Given the description of an element on the screen output the (x, y) to click on. 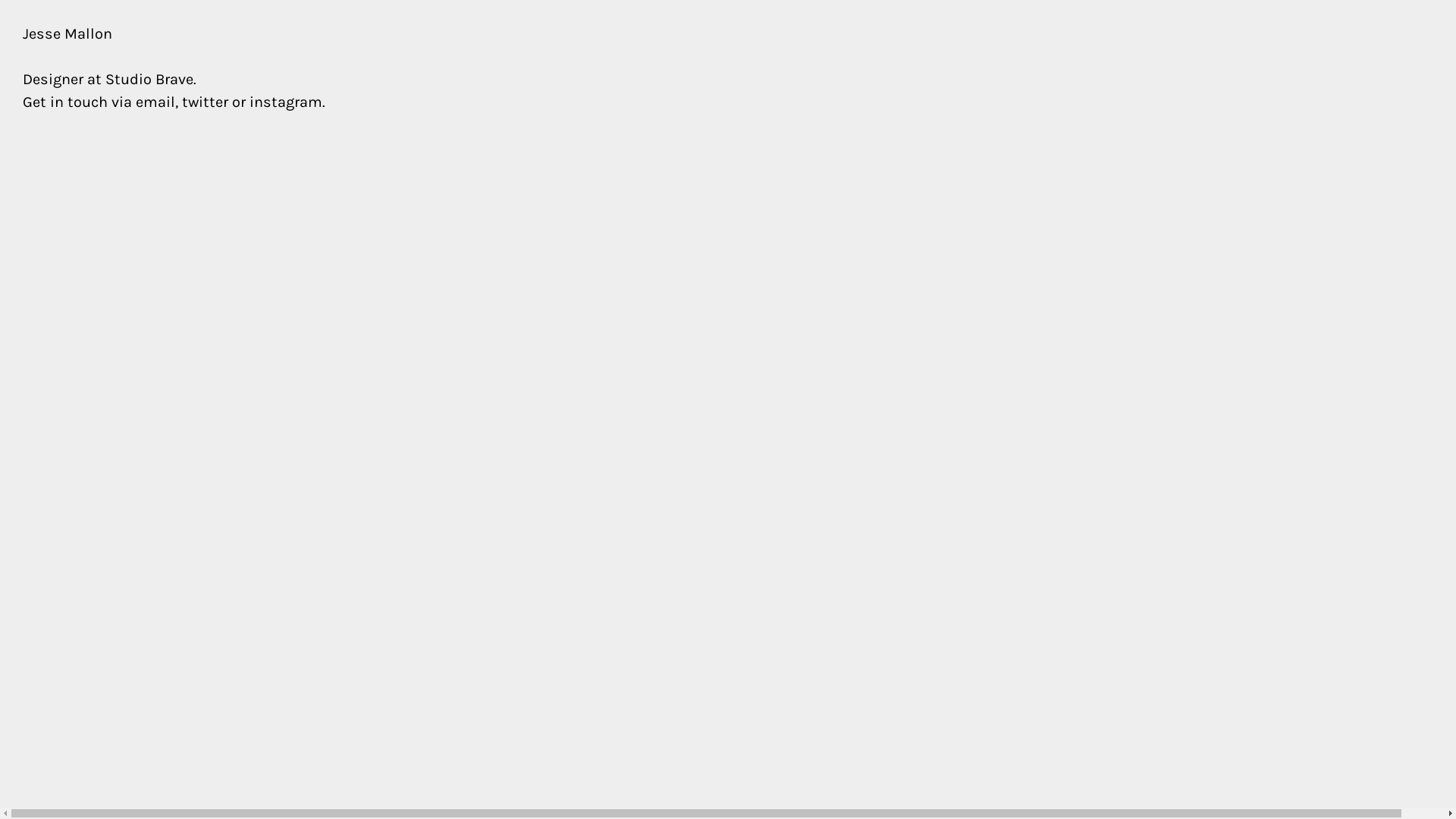
email Element type: text (155, 101)
twitter Element type: text (205, 101)
instagram Element type: text (285, 101)
Studio Brave Element type: text (149, 78)
